Given the description of an element on the screen output the (x, y) to click on. 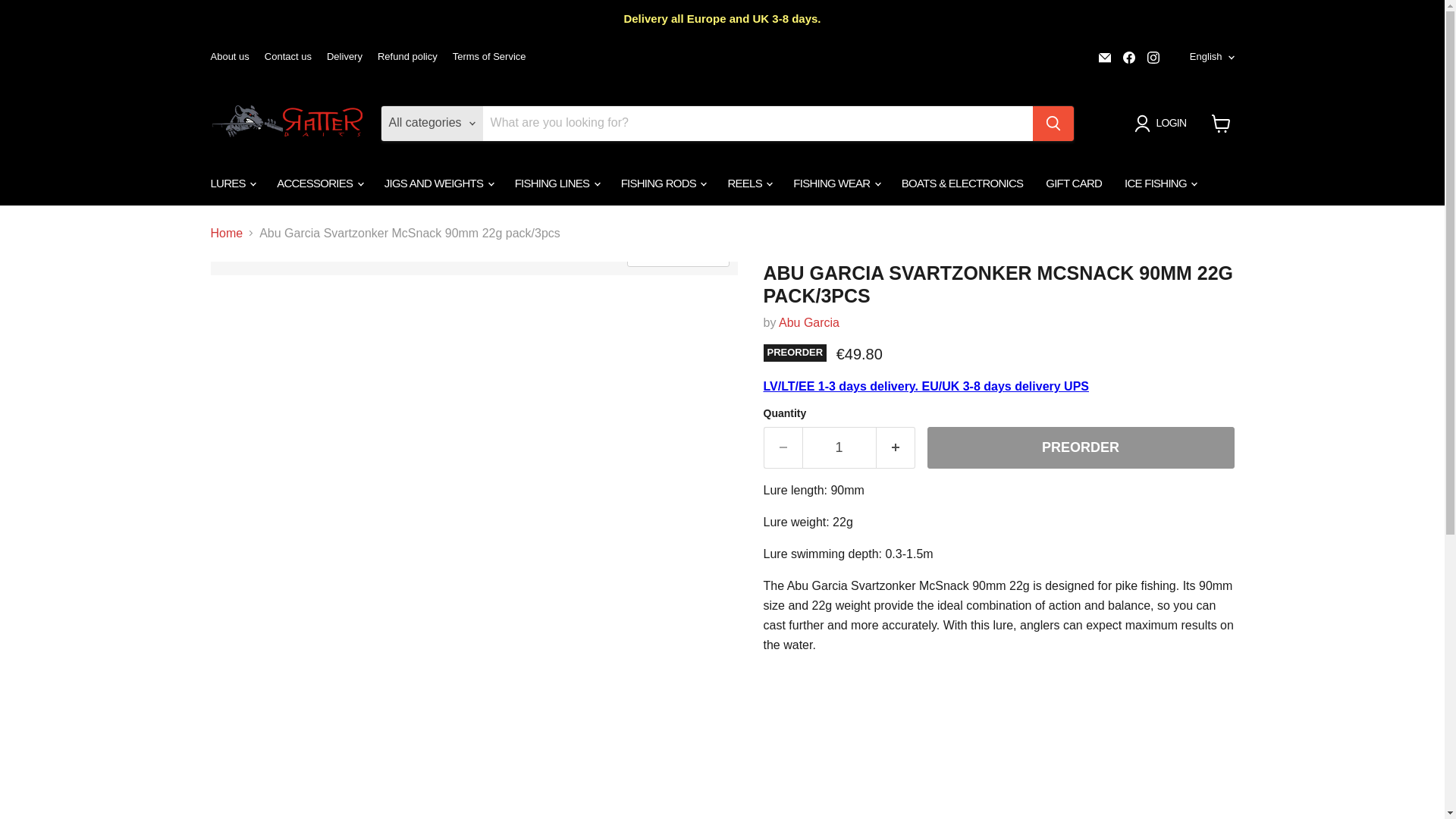
Delivery (344, 57)
Email Ratter Baits (1104, 56)
English (1208, 56)
Find us on Facebook (1129, 56)
Refund policy (407, 57)
About us (229, 57)
Email (1104, 56)
Terms of Service (488, 57)
Contact us (287, 57)
Facebook (1129, 56)
Find us on Instagram (1152, 56)
1 (839, 447)
Instagram (1152, 56)
View cart (1221, 122)
Abu Garcia (809, 322)
